Given the description of an element on the screen output the (x, y) to click on. 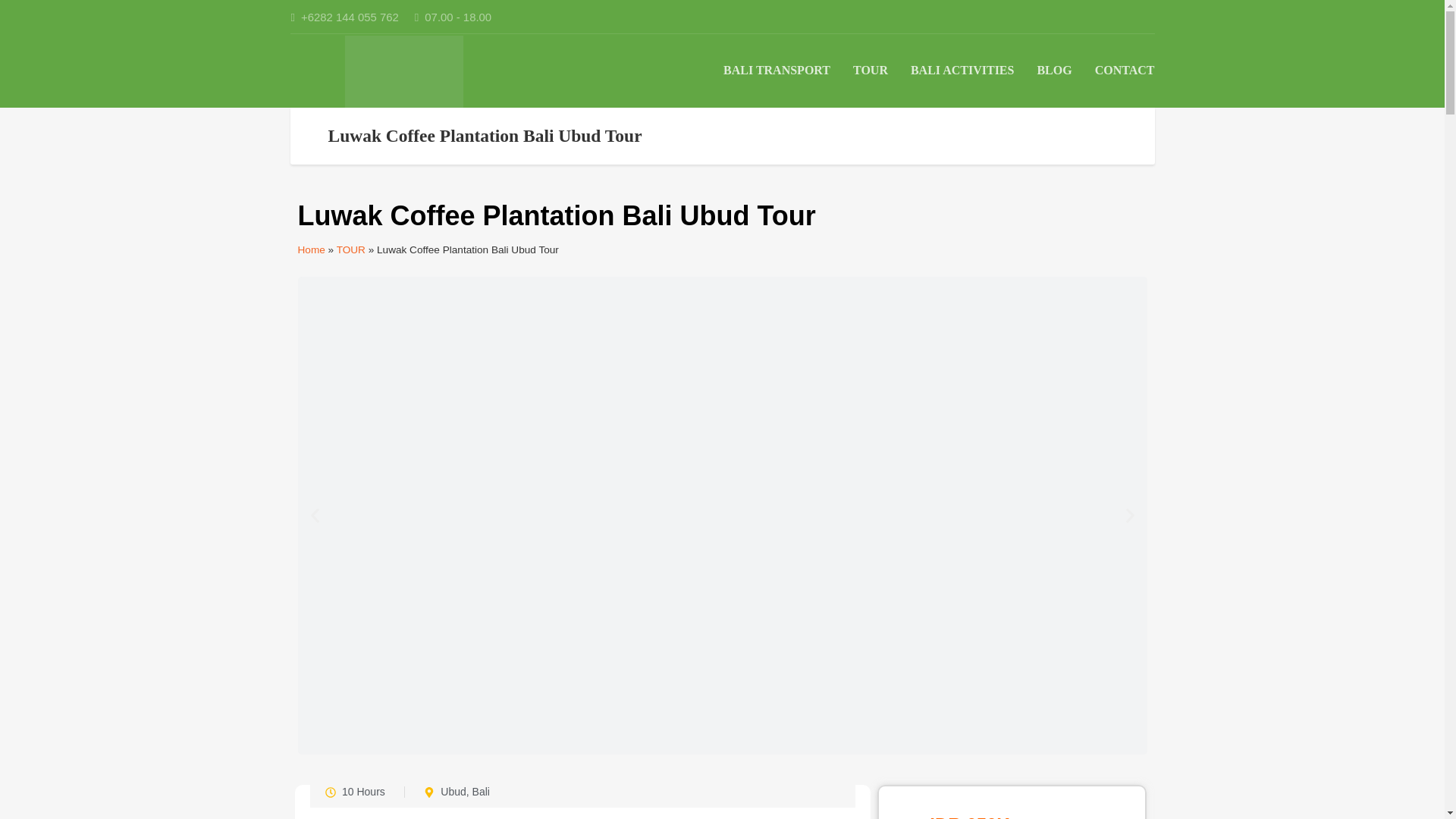
Home (310, 250)
TOUR (350, 250)
TOUR (870, 69)
CONTACT (1124, 69)
BALI ACTIVITIES (962, 69)
BLOG (1053, 69)
BALI TRANSPORT (776, 69)
